Given the description of an element on the screen output the (x, y) to click on. 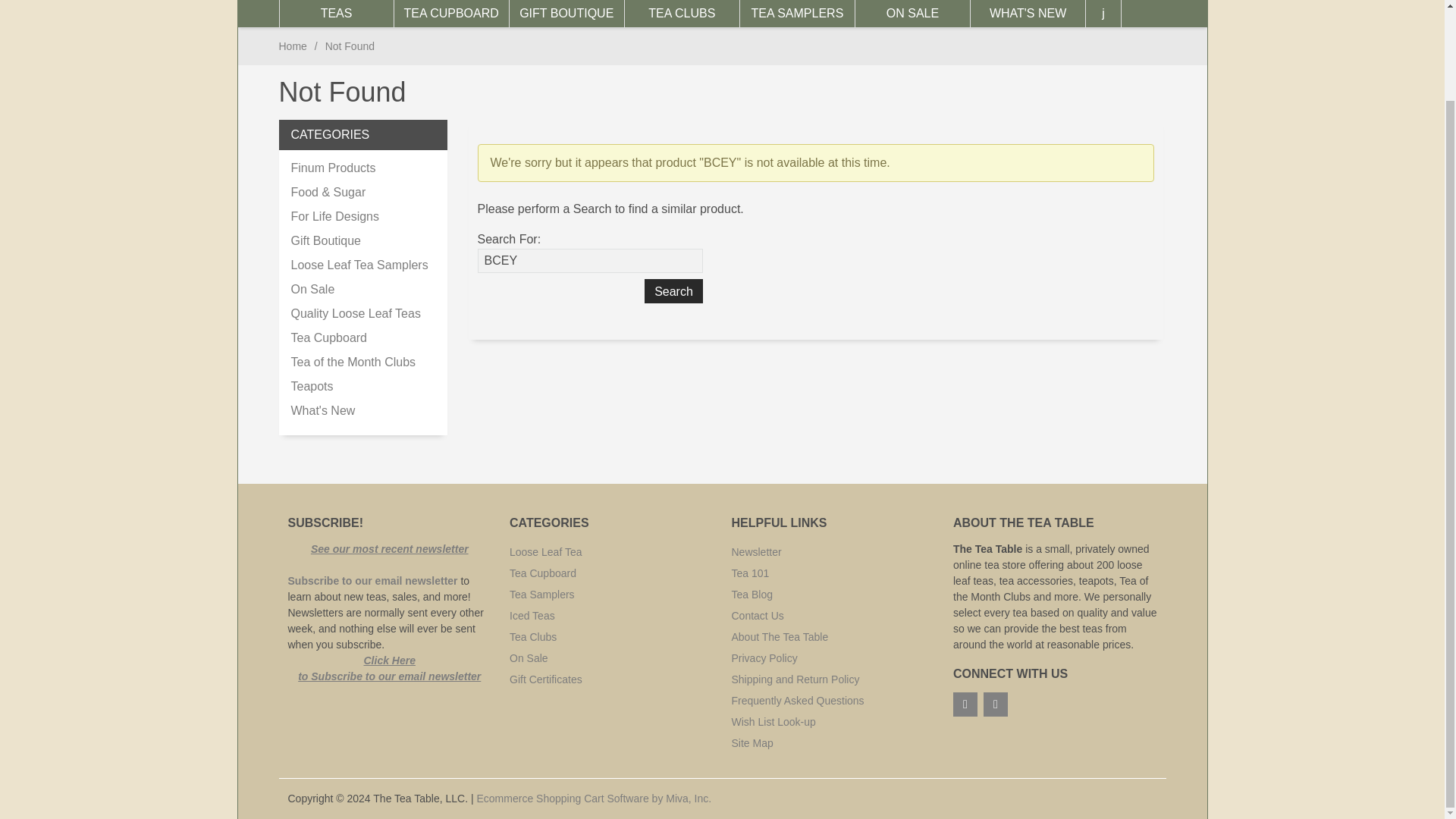
Finum Products (363, 168)
Loose Leaf Tea Samplers (363, 265)
BCEY (590, 260)
Search (674, 291)
On Sale (363, 289)
TEAS (336, 13)
What's New (363, 410)
Gift Boutique (363, 241)
For Life Designs (363, 216)
BCEY (590, 260)
